Given the description of an element on the screen output the (x, y) to click on. 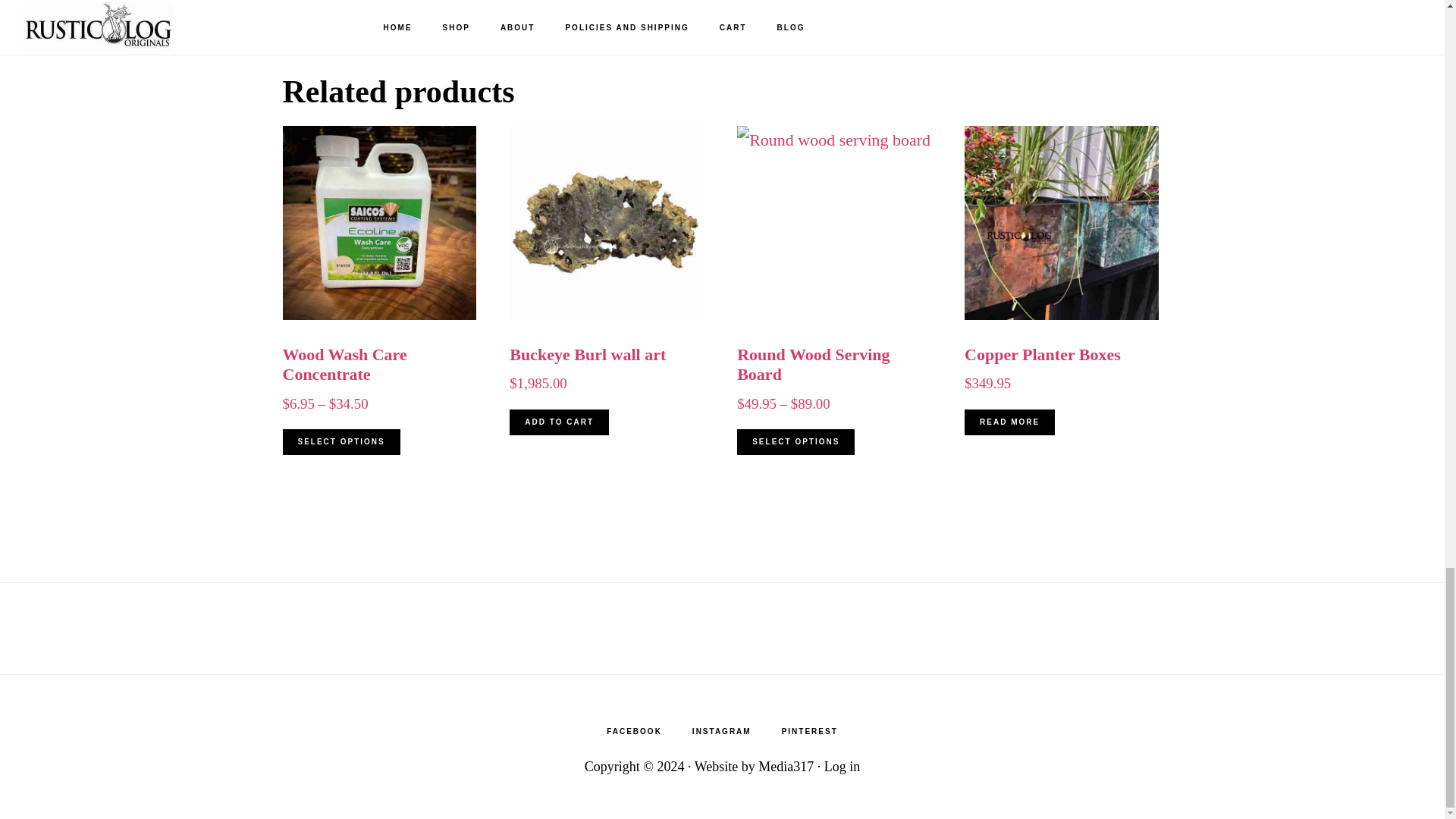
INSTAGRAM (722, 731)
READ MORE (1008, 421)
SELECT OPTIONS (340, 442)
ADD TO CART (558, 421)
SELECT OPTIONS (795, 442)
Log in (842, 766)
PINTEREST (810, 731)
FACEBOOK (634, 731)
